Given the description of an element on the screen output the (x, y) to click on. 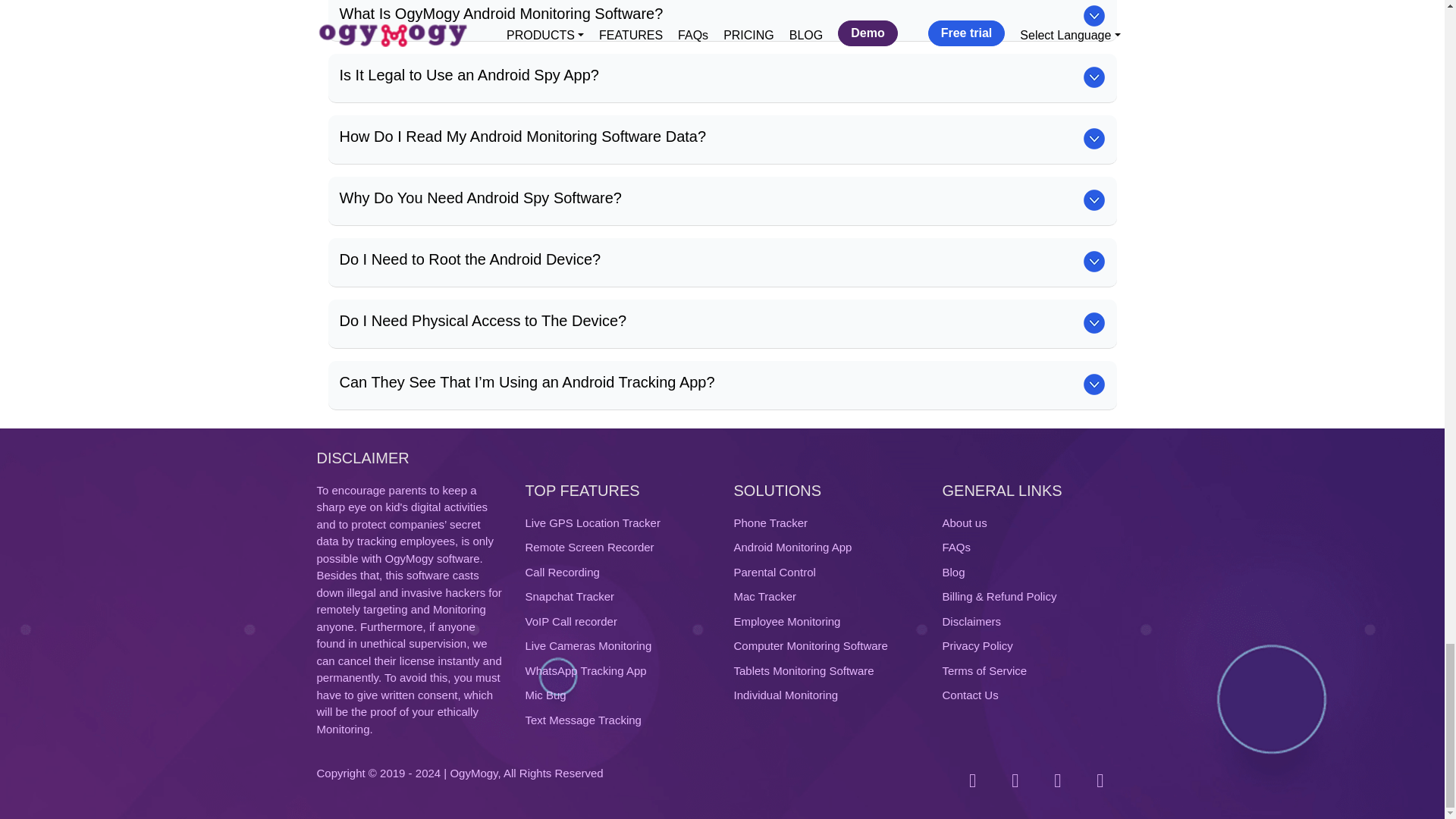
How Do I Read My Android Monitoring Software Data? (522, 135)
What Is OgyMogy Android Monitoring Software? (501, 13)
VoIP Call recorder (569, 621)
Live Cameras Monitoring (587, 645)
Remote Screen Recorder (588, 546)
Snapchat Tracker (569, 595)
Is It Legal to Use an Android Spy App? (468, 74)
Call Recording (561, 571)
Mic Bug (545, 694)
WhatsApp Tracking App (585, 670)
